Given the description of an element on the screen output the (x, y) to click on. 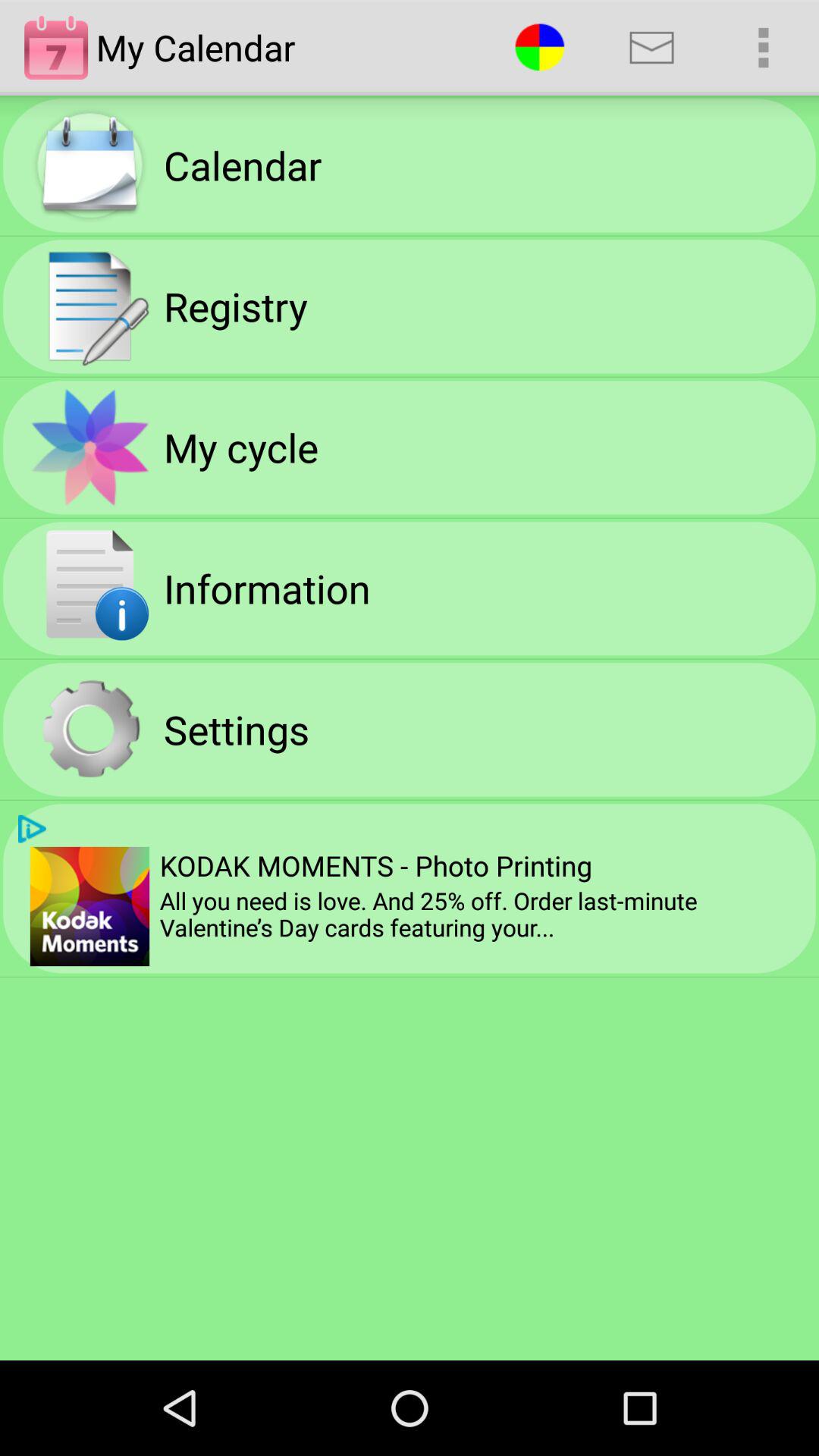
choose item above the settings item (266, 587)
